Given the description of an element on the screen output the (x, y) to click on. 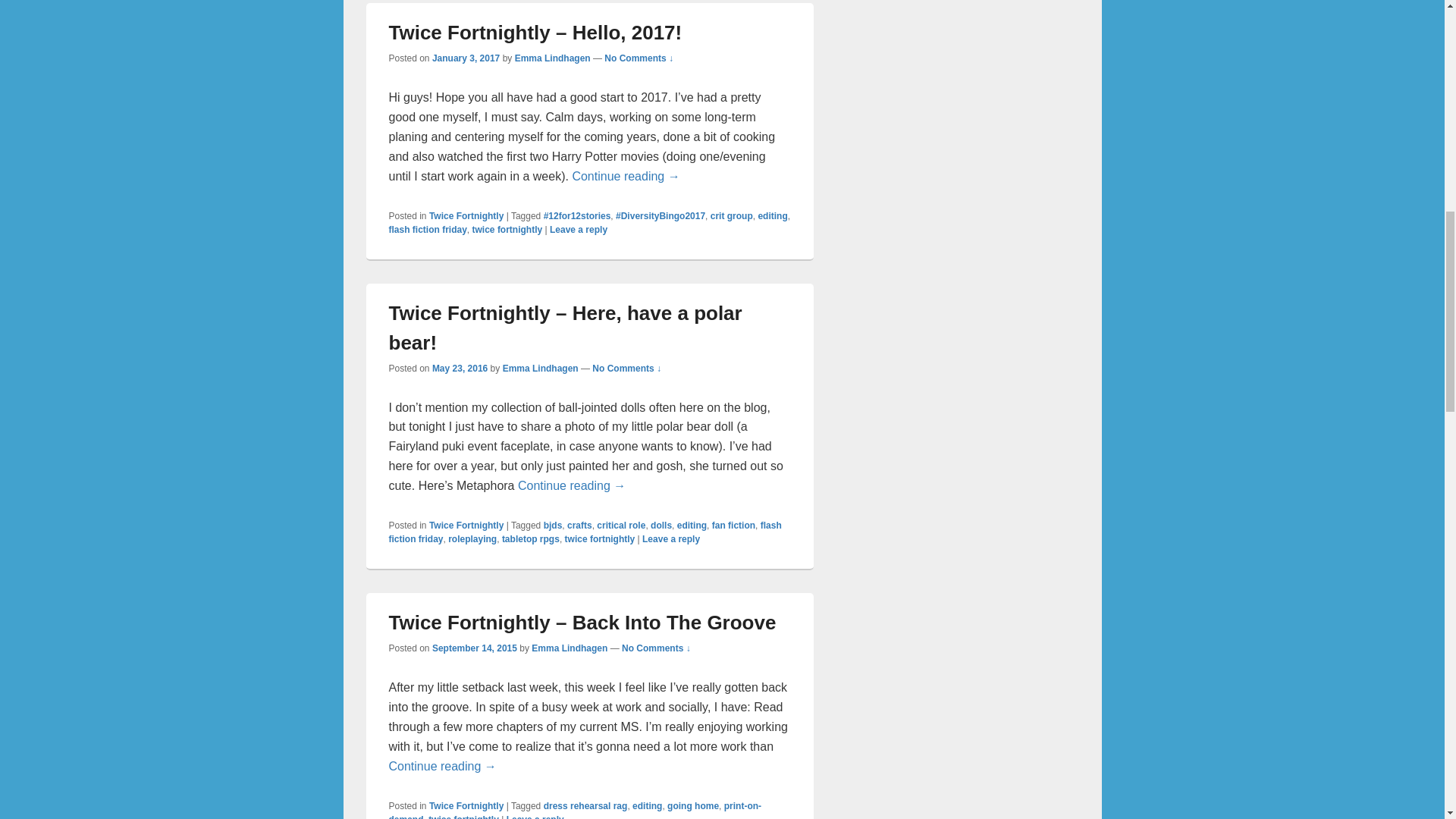
21:08 (474, 647)
View all posts by Emma Lindhagen (553, 58)
22:48 (459, 367)
View all posts by Emma Lindhagen (540, 367)
01:19 (465, 58)
View all posts by Emma Lindhagen (569, 647)
